Given the description of an element on the screen output the (x, y) to click on. 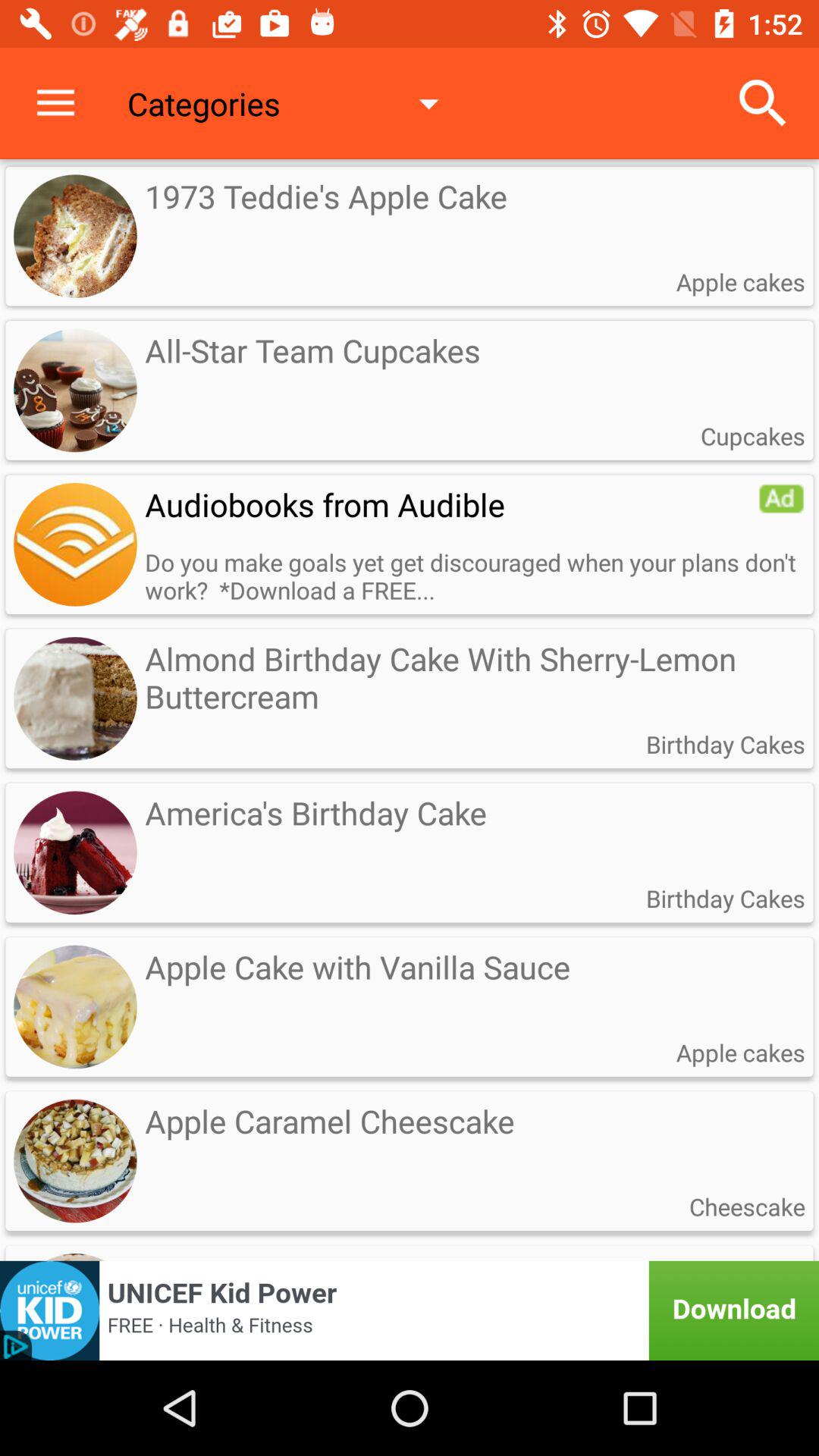
tap item to the right of audiobooks from audible item (781, 498)
